Given the description of an element on the screen output the (x, y) to click on. 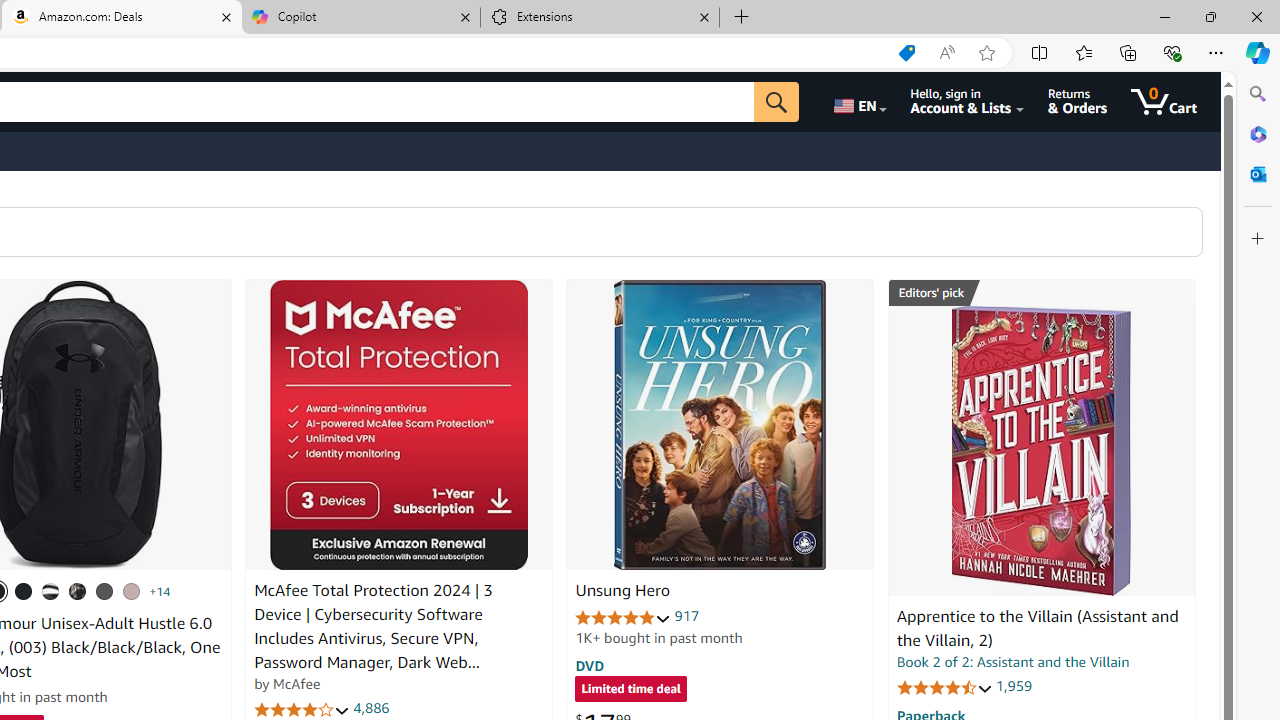
Limited time deal (630, 690)
Book 2 of 2: Assistant and the Villain (1013, 662)
0 items in cart (1163, 101)
4.9 out of 5 stars (623, 616)
4.1 out of 5 stars (301, 709)
4.6 out of 5 stars (944, 686)
4,886 (371, 708)
Returns & Orders (1077, 101)
Copilot (360, 17)
